Given the description of an element on the screen output the (x, y) to click on. 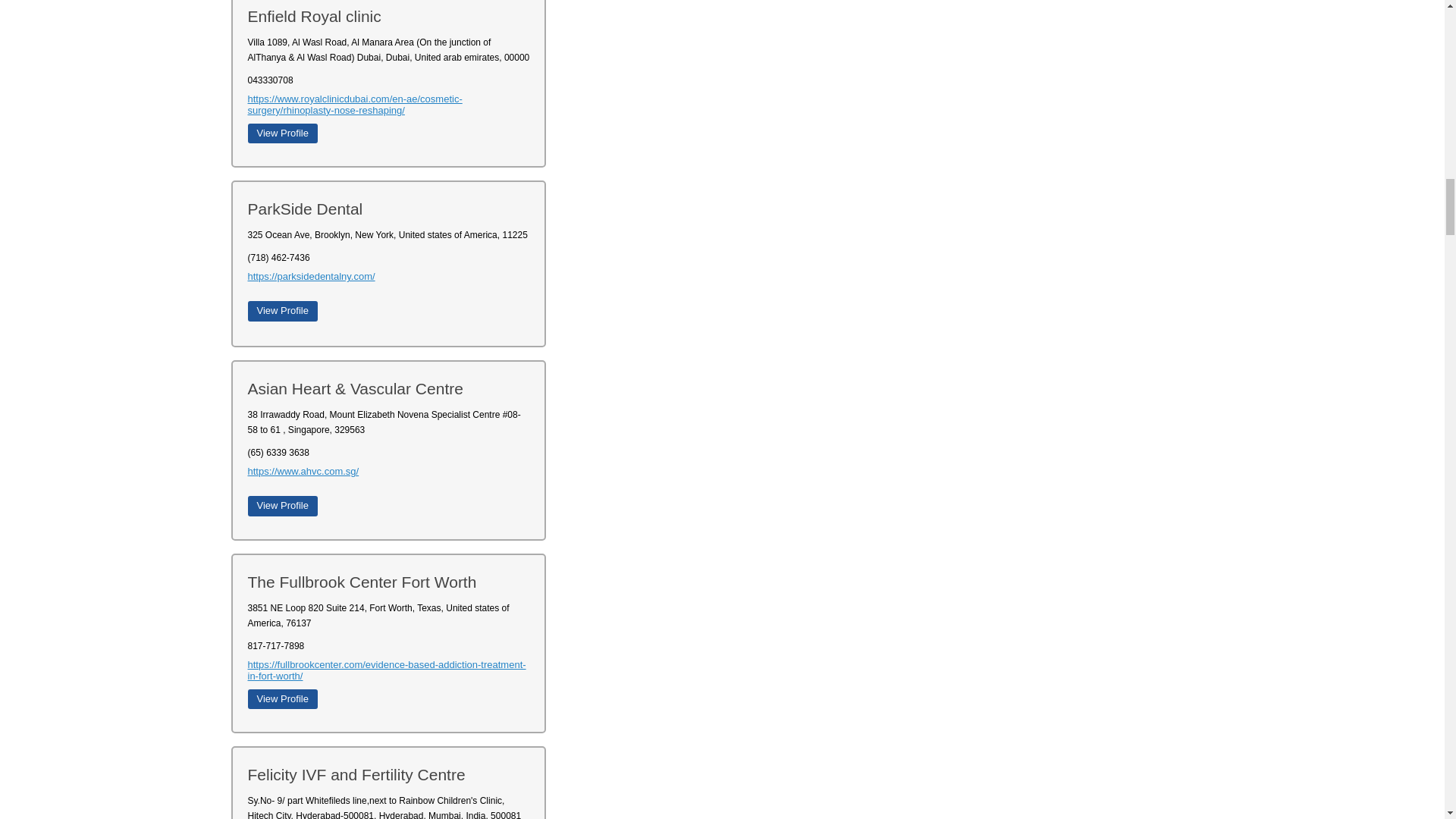
Click here to view profile (282, 311)
Click here to view profile (282, 133)
Click here to view profile (282, 505)
Click here to view profile (282, 699)
